Given the description of an element on the screen output the (x, y) to click on. 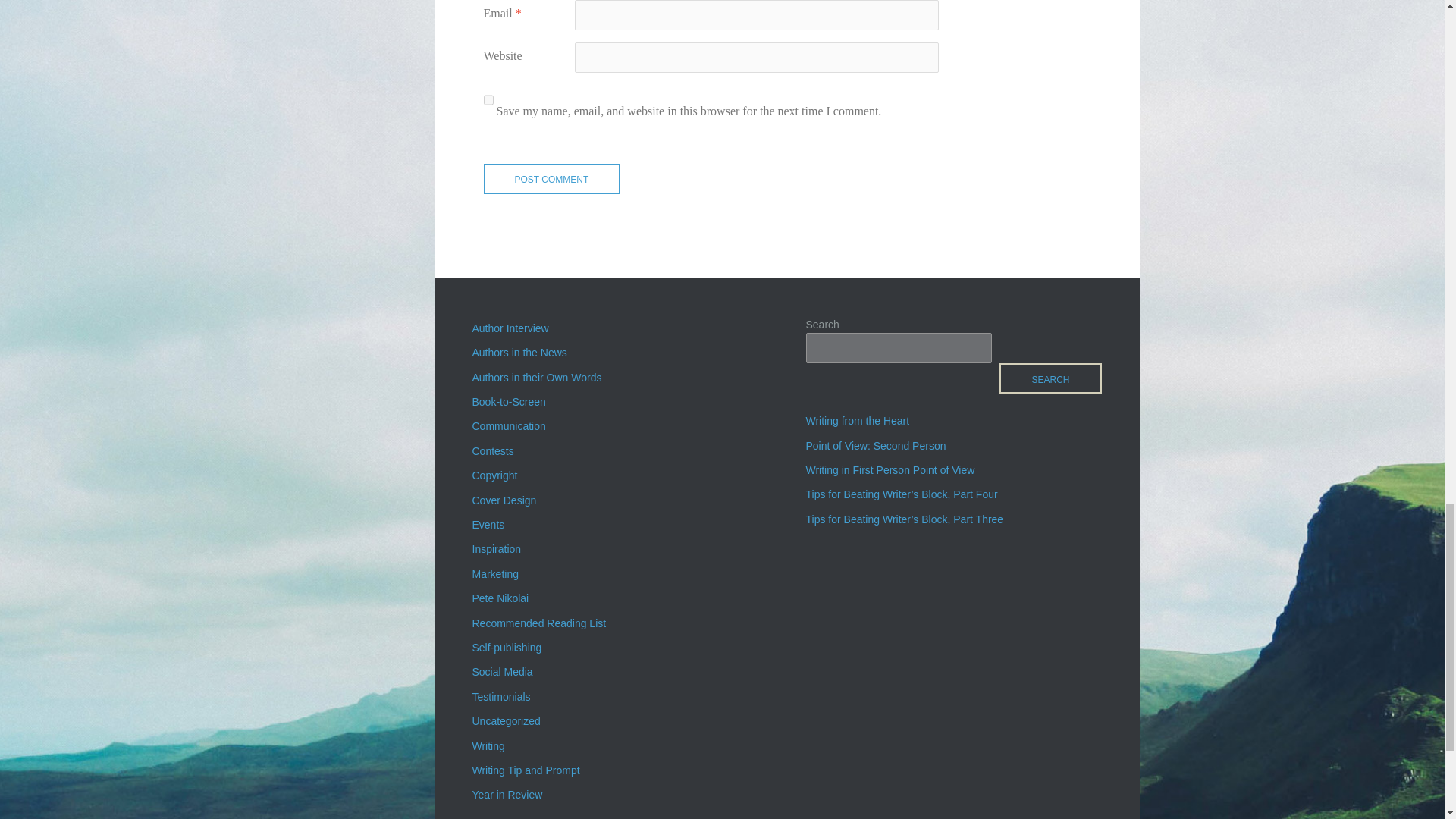
Contests (492, 451)
Cover Design (503, 500)
Copyright (493, 475)
Events (487, 524)
Communication (507, 426)
Post Comment (551, 178)
Inspiration (496, 548)
Post Comment (551, 178)
Author Interview (509, 328)
Marketing (494, 573)
Authors in their Own Words (536, 377)
Book-to-Screen (507, 401)
Authors in the News (518, 352)
